Given the description of an element on the screen output the (x, y) to click on. 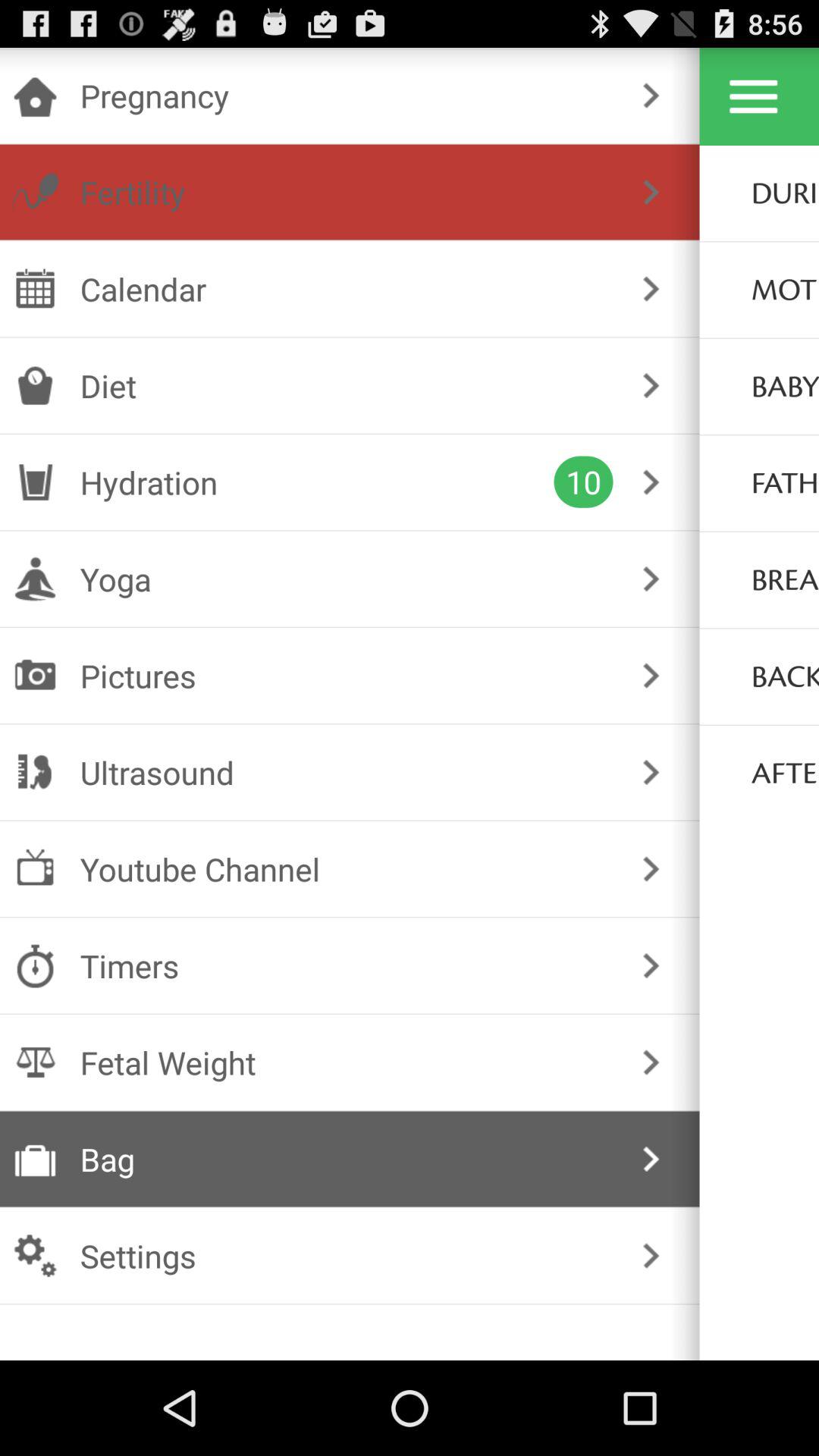
open the icon next to the 10 icon (316, 481)
